Given the description of an element on the screen output the (x, y) to click on. 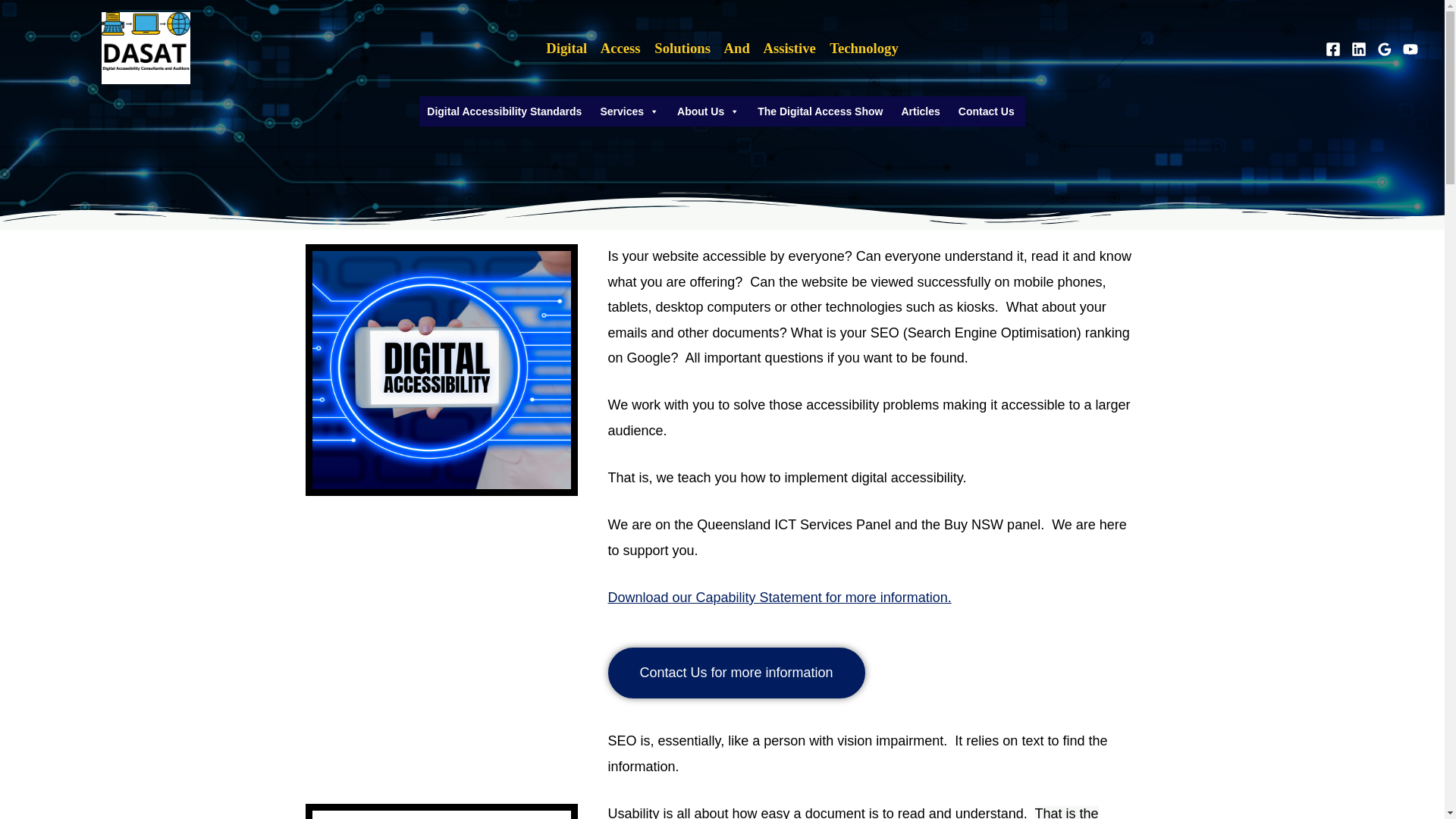
Services (629, 111)
Contact Us (986, 111)
About Us (707, 111)
Download our Capability Statement for more information. (780, 597)
Articles (920, 111)
Contact Us for more information (736, 672)
Digital Accessibility Standards (504, 111)
The Digital Access Show (819, 111)
